Given the description of an element on the screen output the (x, y) to click on. 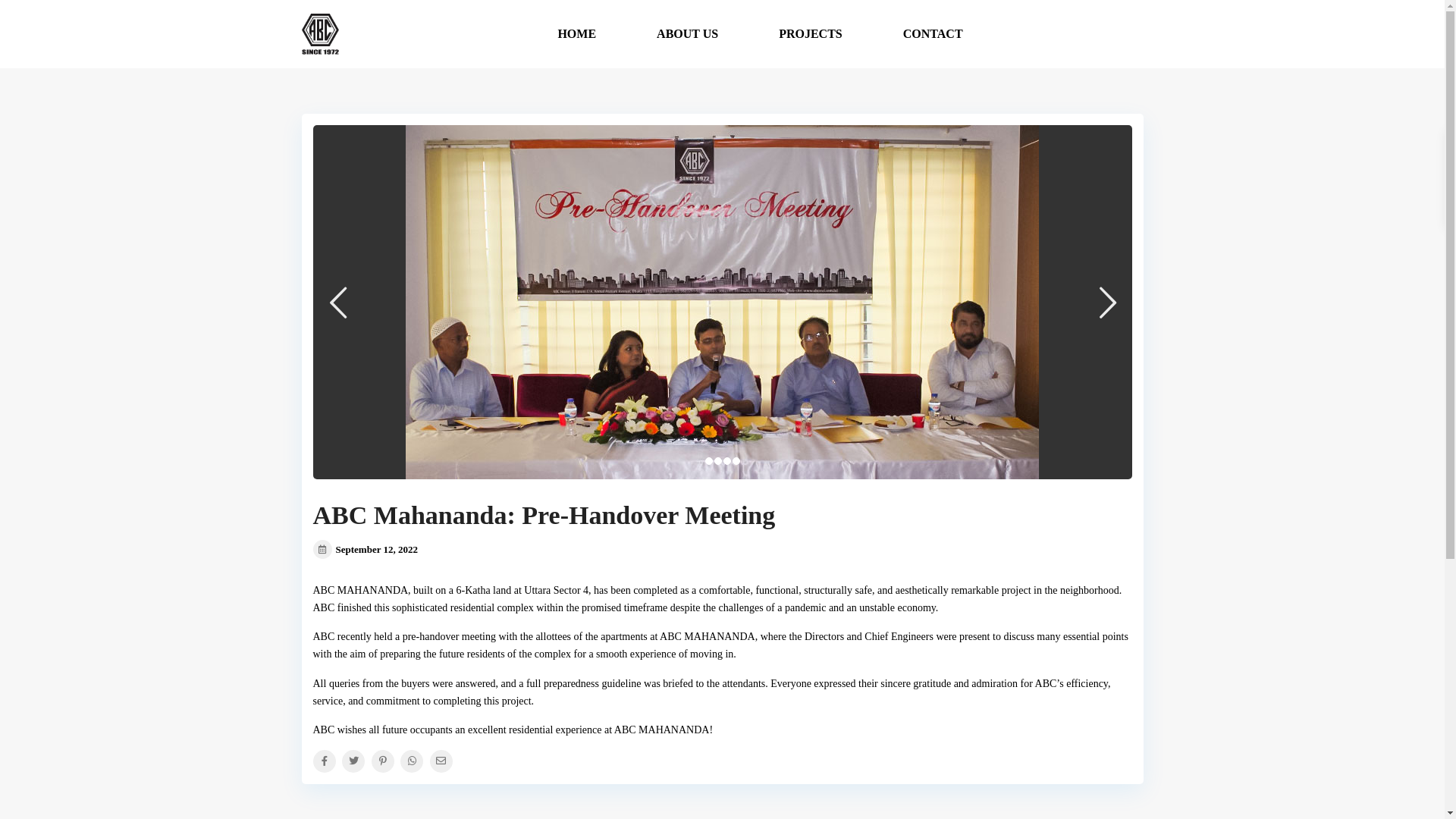
ABOUT US Element type: text (687, 34)
PROJECTS Element type: text (810, 34)
CONTACT Element type: text (932, 34)
HOME Element type: text (576, 34)
